Given the description of an element on the screen output the (x, y) to click on. 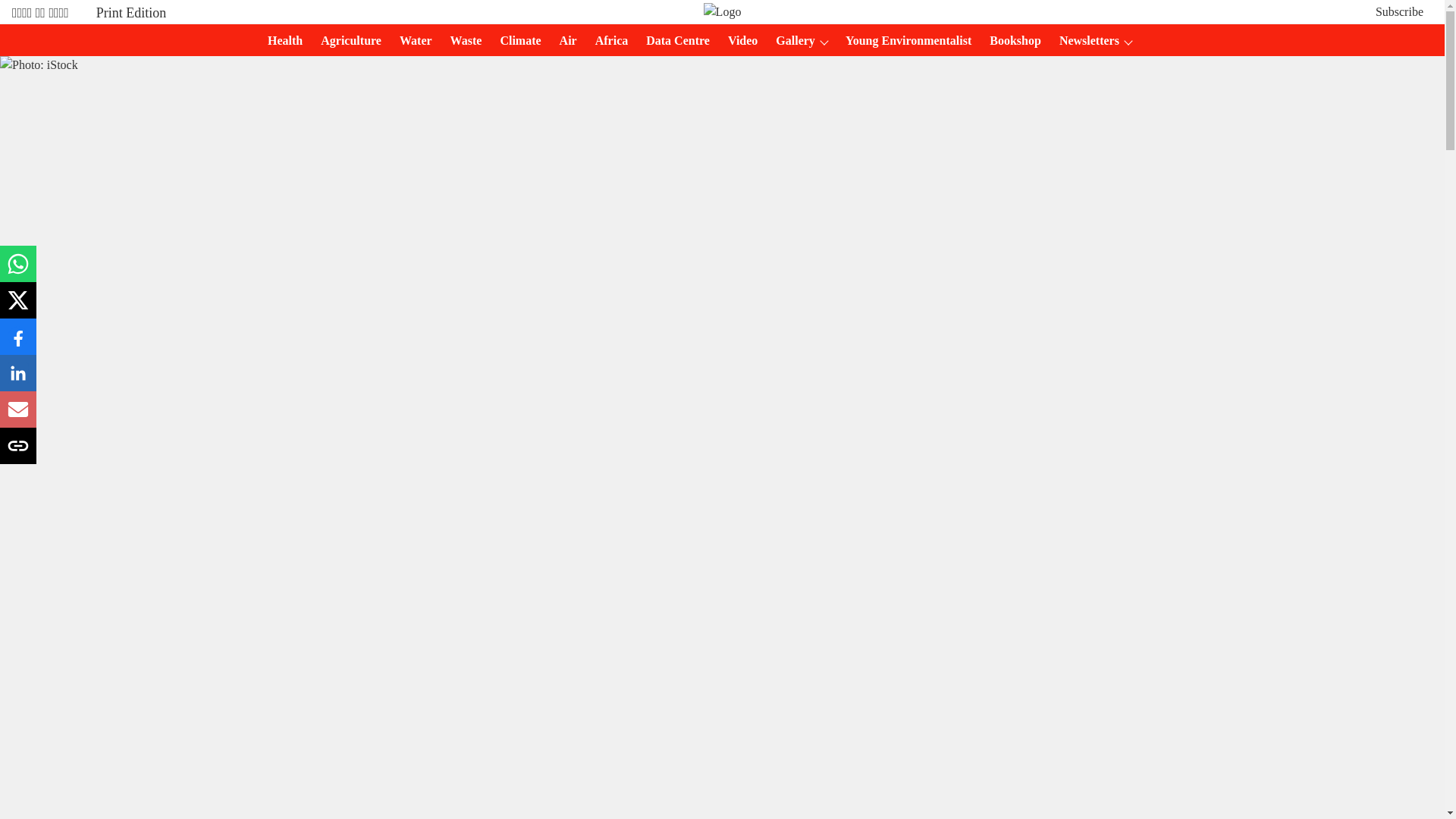
Agriculture (346, 40)
Climate (515, 40)
Africa (607, 40)
Water (411, 40)
Health (280, 40)
Print Edition (131, 12)
Young Environmentalist (903, 40)
Video (738, 40)
Data Centre (673, 40)
Waste (461, 40)
